Given the description of an element on the screen output the (x, y) to click on. 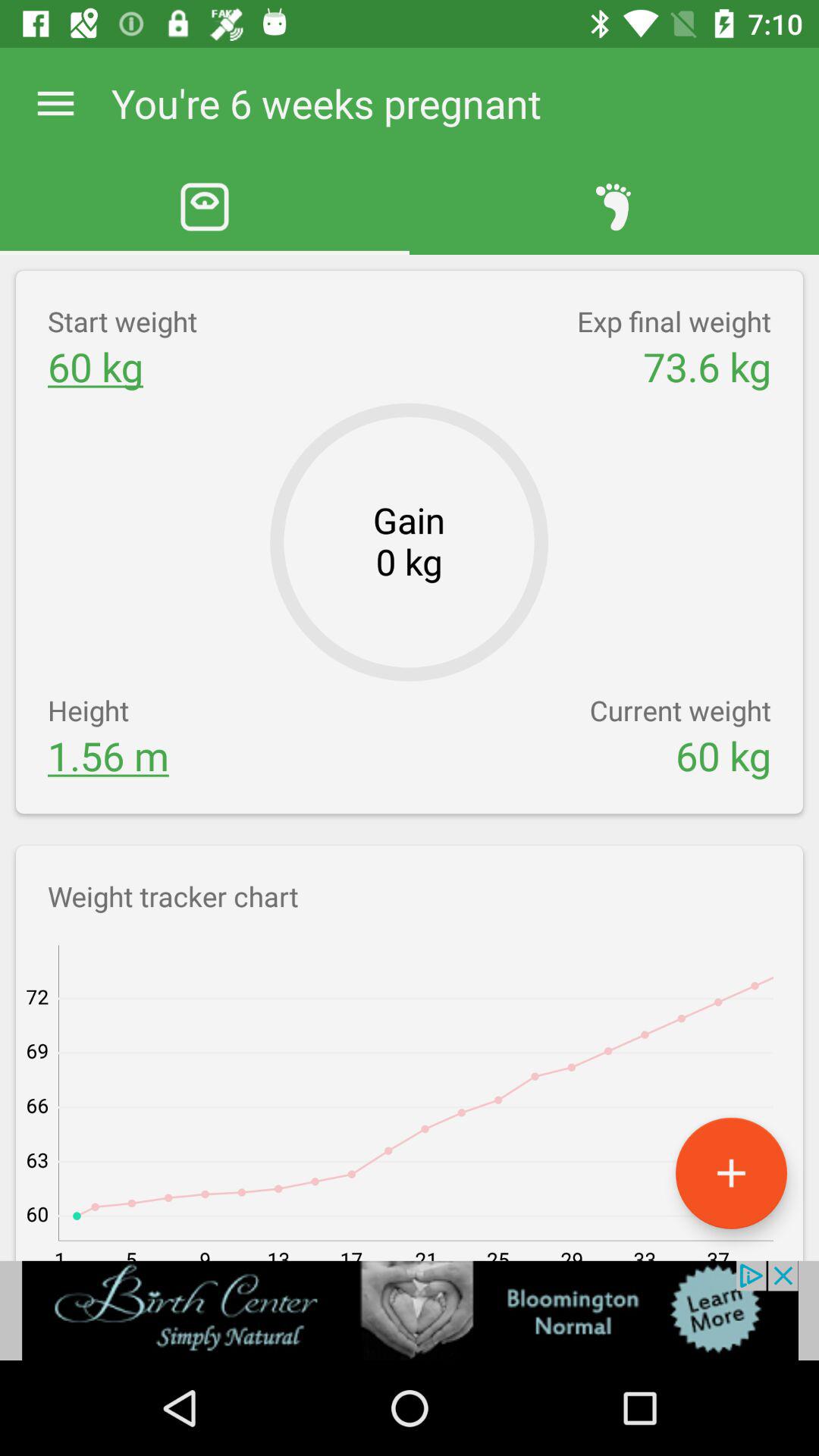
open new window (731, 1173)
